Given the description of an element on the screen output the (x, y) to click on. 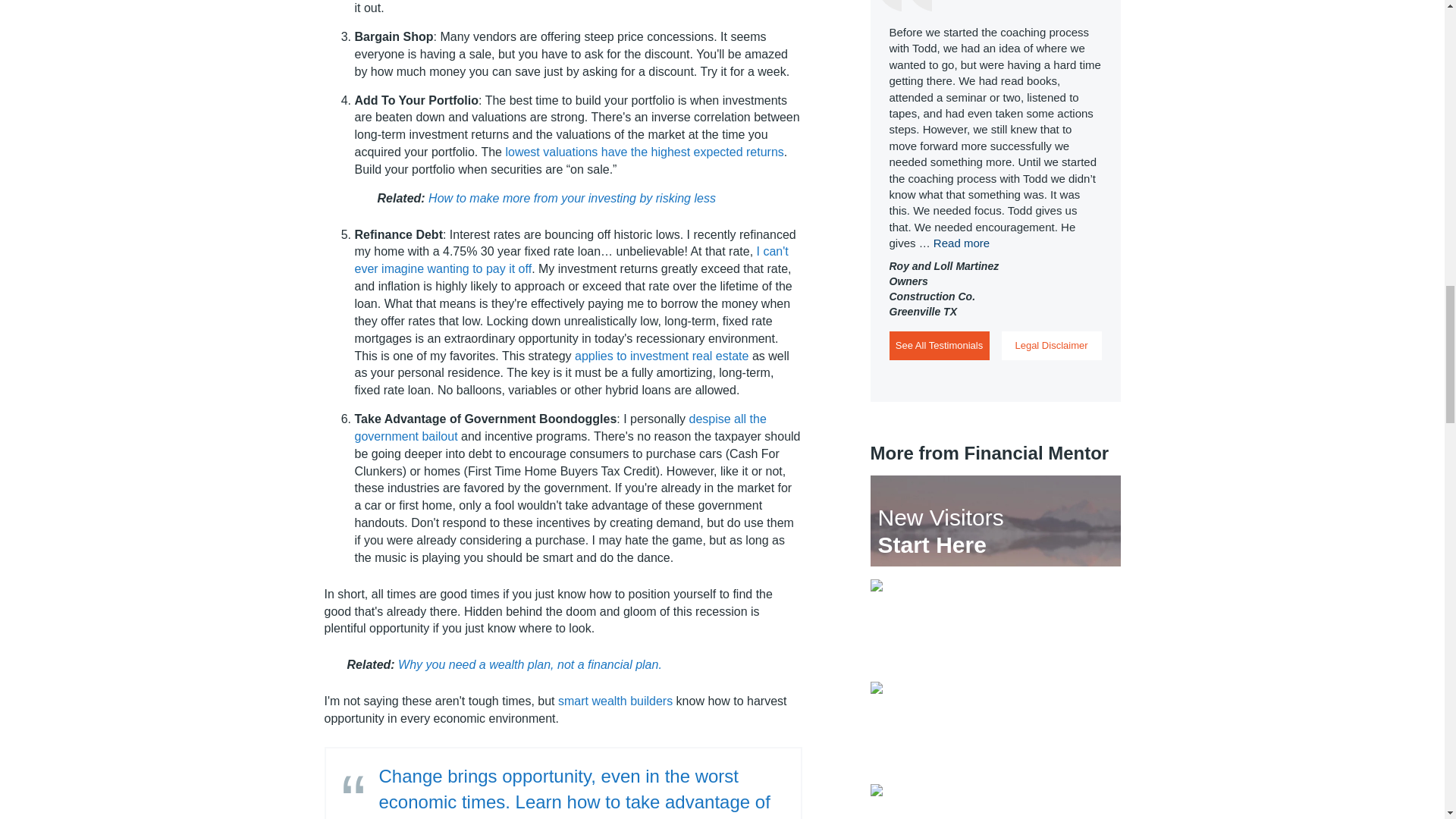
Seven Steps To Seven Figures Wealth Building Seminar (995, 623)
Investment Ebooks: Learn Strategies to Build Wealth (995, 800)
applies to investment real estate (661, 355)
Invest Like Todd (995, 725)
despise all the government bailout (561, 427)
I can't ever imagine wanting to pay it off (572, 259)
lowest valuations have the highest expected returns (644, 151)
Complete testimonial by Roy and Loll Martinez (961, 242)
How to make more from your investing by risking less (572, 197)
